Given the description of an element on the screen output the (x, y) to click on. 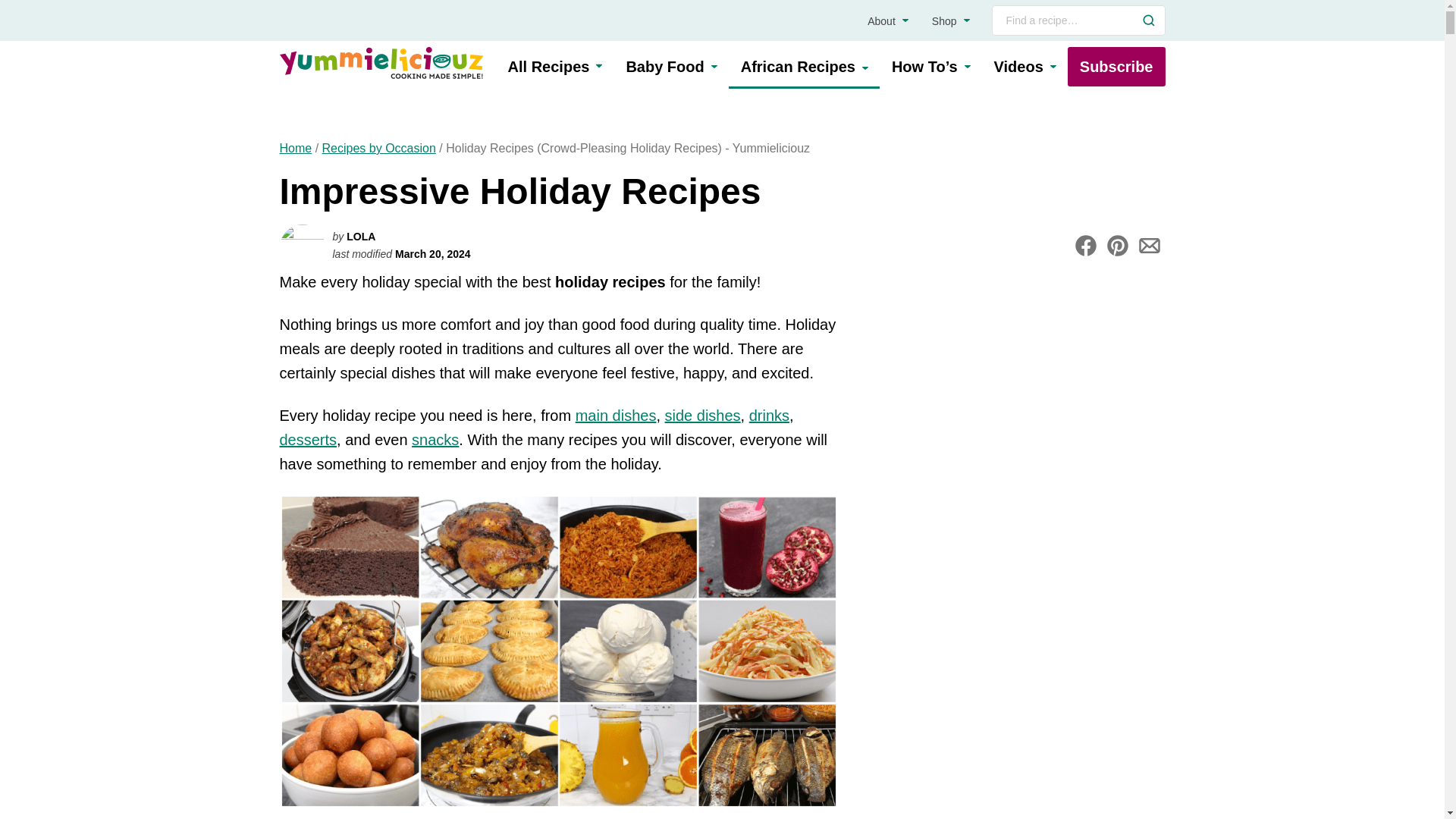
Share on Facebook (1084, 245)
Search for (1078, 20)
Yummieliciouz (380, 62)
Share via Email (1148, 245)
All Recipes (555, 66)
Share on Pinterest (1116, 245)
